Given the description of an element on the screen output the (x, y) to click on. 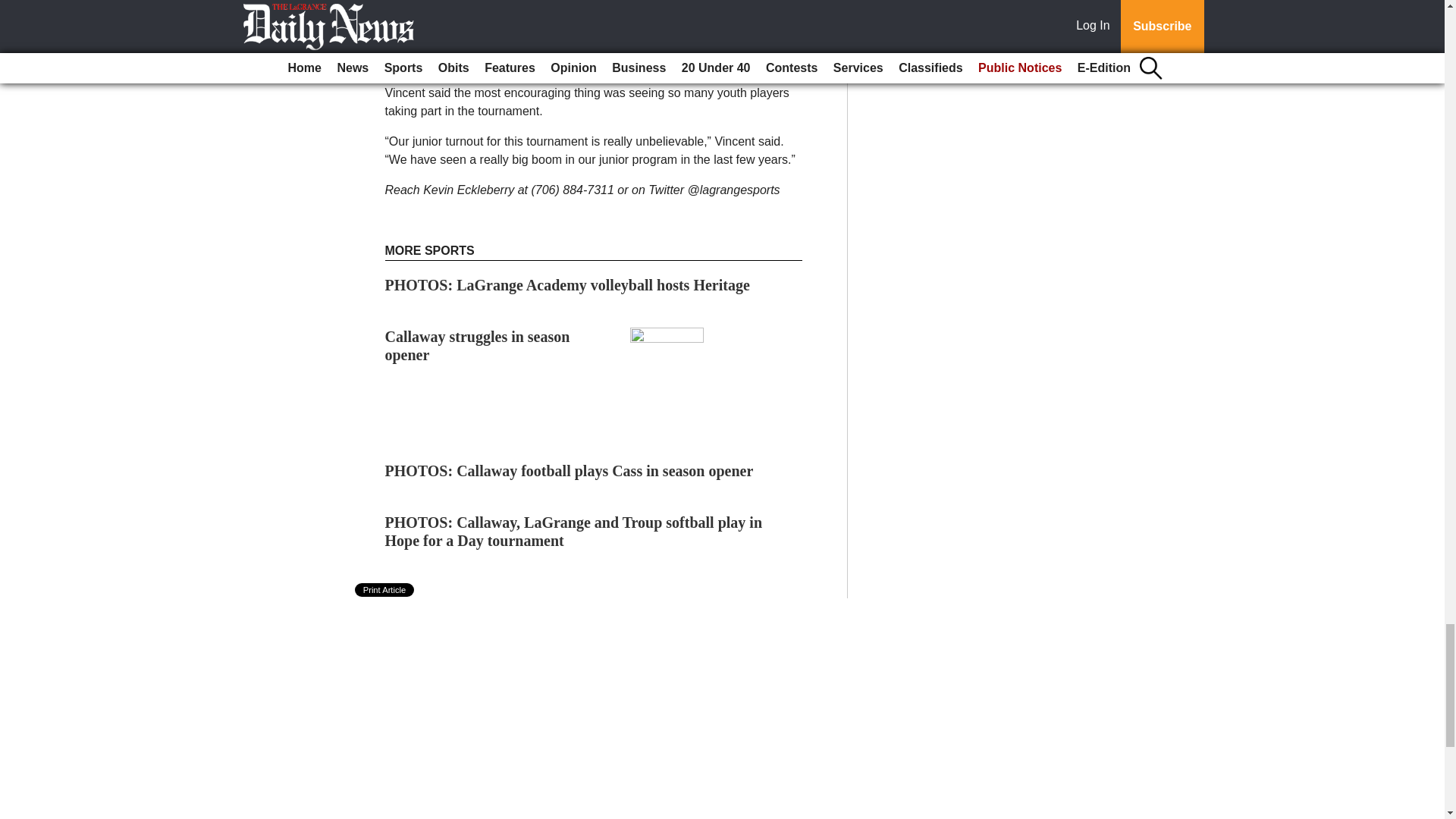
PHOTOS: LaGrange Academy volleyball hosts Heritage (567, 284)
Callaway struggles in season opener (477, 345)
Callaway struggles in season opener (477, 345)
Print Article (384, 590)
PHOTOS: Callaway football plays Cass in season opener (569, 470)
PHOTOS: LaGrange Academy volleyball hosts Heritage (567, 284)
PHOTOS: Callaway football plays Cass in season opener (569, 470)
